Given the description of an element on the screen output the (x, y) to click on. 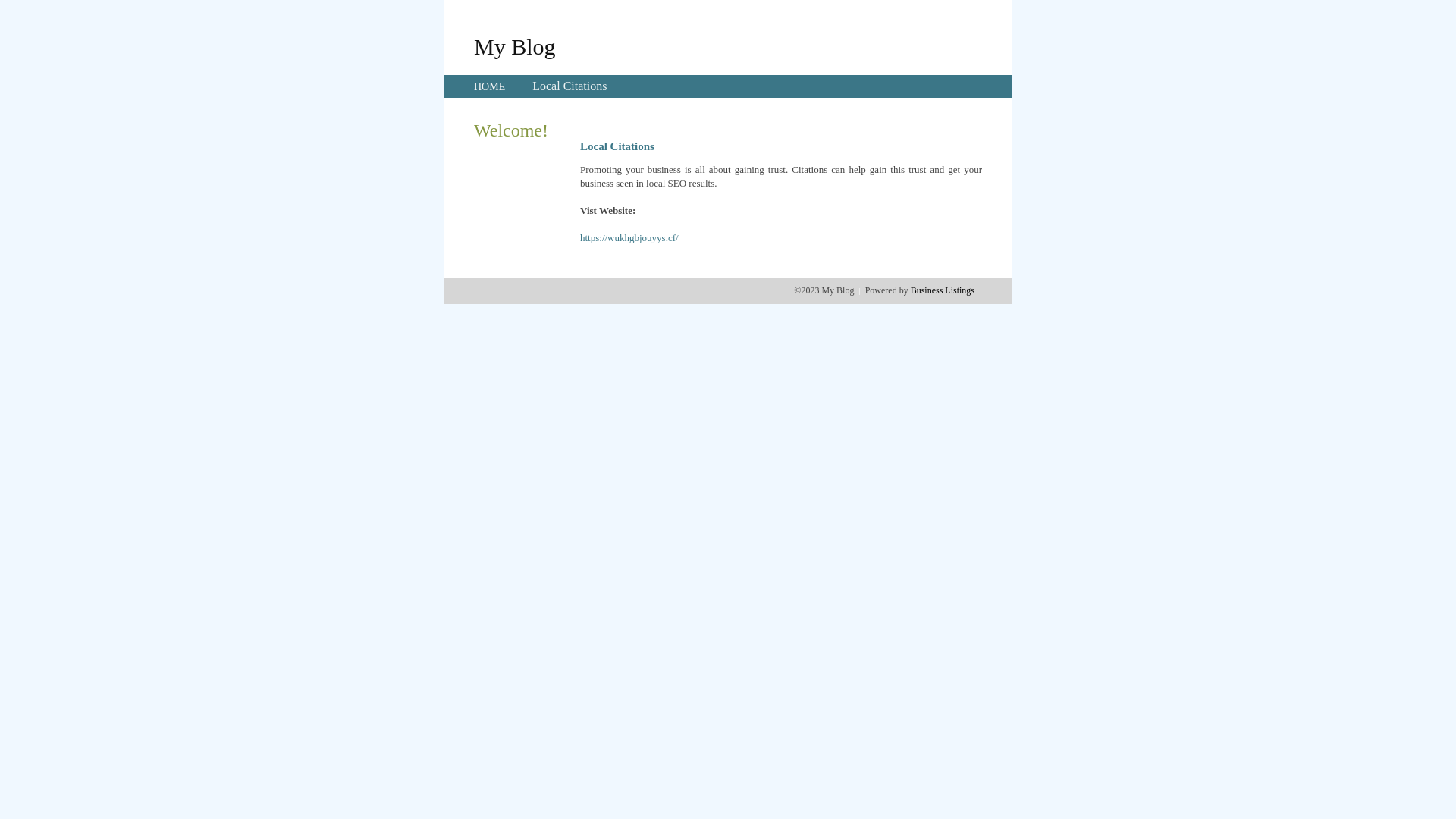
Business Listings Element type: text (942, 290)
https://wukhgbjouyys.cf/ Element type: text (629, 237)
Local Citations Element type: text (569, 85)
My Blog Element type: text (514, 46)
HOME Element type: text (489, 86)
